Given the description of an element on the screen output the (x, y) to click on. 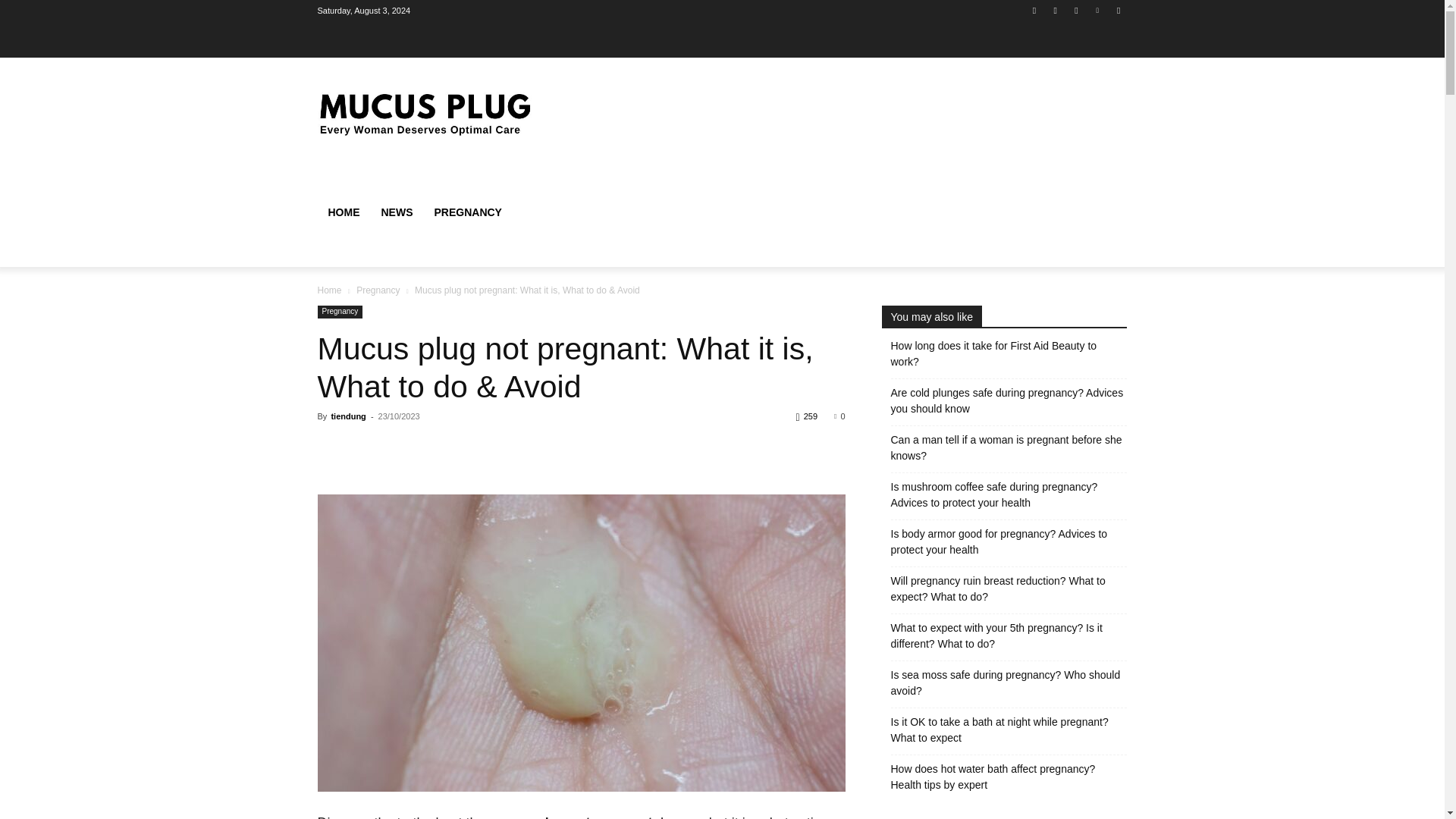
Facebook (1034, 9)
NEWS (396, 212)
Twitter (1075, 9)
tiendung (347, 415)
Vimeo (1097, 9)
Pregnancy (377, 290)
HOME (343, 212)
0 (839, 415)
View all posts in Pregnancy (377, 290)
Home (328, 290)
